Given the description of an element on the screen output the (x, y) to click on. 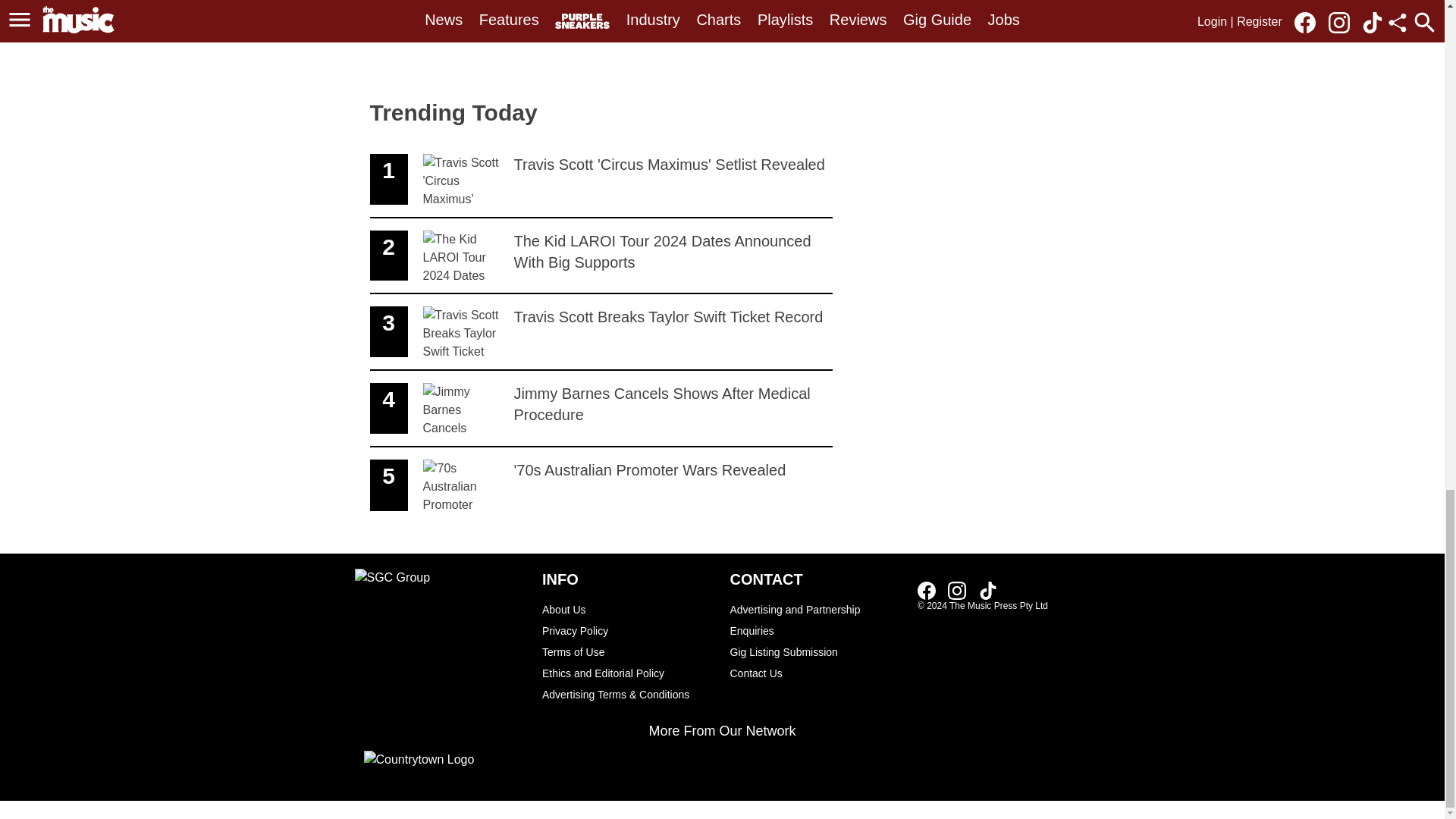
Contact Us (815, 672)
Ethics and Editorial Policy (627, 672)
Link to our Facebook (926, 590)
Link to our TikTok (600, 485)
Terms of Use (600, 179)
Gig Listing Submission (987, 590)
About Us (627, 651)
Advertising and Partnership Enquiries (815, 651)
Privacy Policy (627, 608)
Link to our Instagram (600, 409)
